Given the description of an element on the screen output the (x, y) to click on. 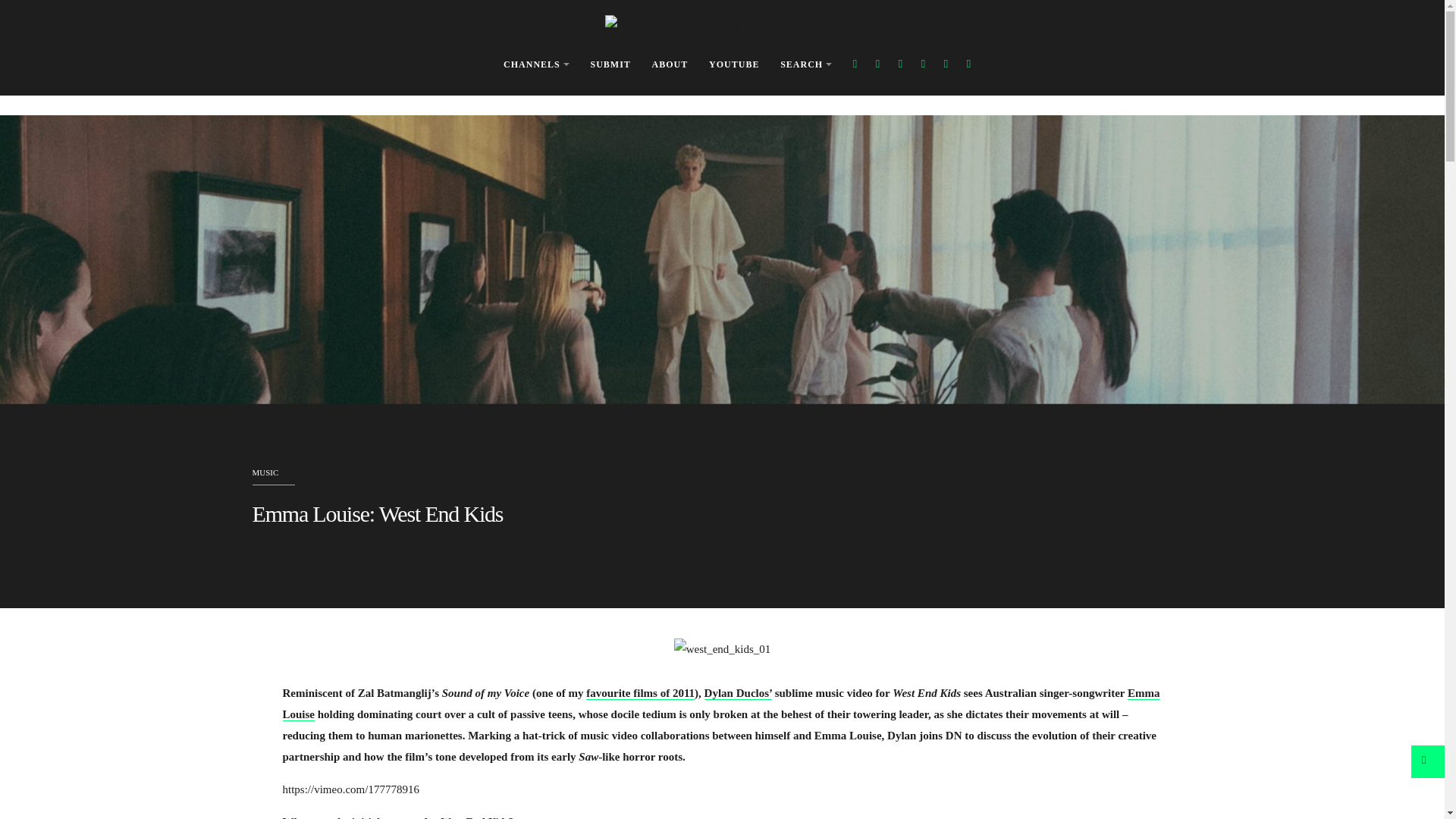
LinkedIn (968, 65)
MUSIC (264, 471)
Vimeo (945, 65)
SEARCH (805, 65)
Facebook (855, 65)
favourite films of 2011 (640, 693)
Emma Louise: West End Kids (376, 513)
YOUTUBE (733, 65)
SUBMIT (610, 65)
Emma Louise (720, 704)
CHANNELS (536, 65)
Instagram (900, 65)
Twitter (877, 65)
You Tube (923, 65)
ABOUT (670, 65)
